Given the description of an element on the screen output the (x, y) to click on. 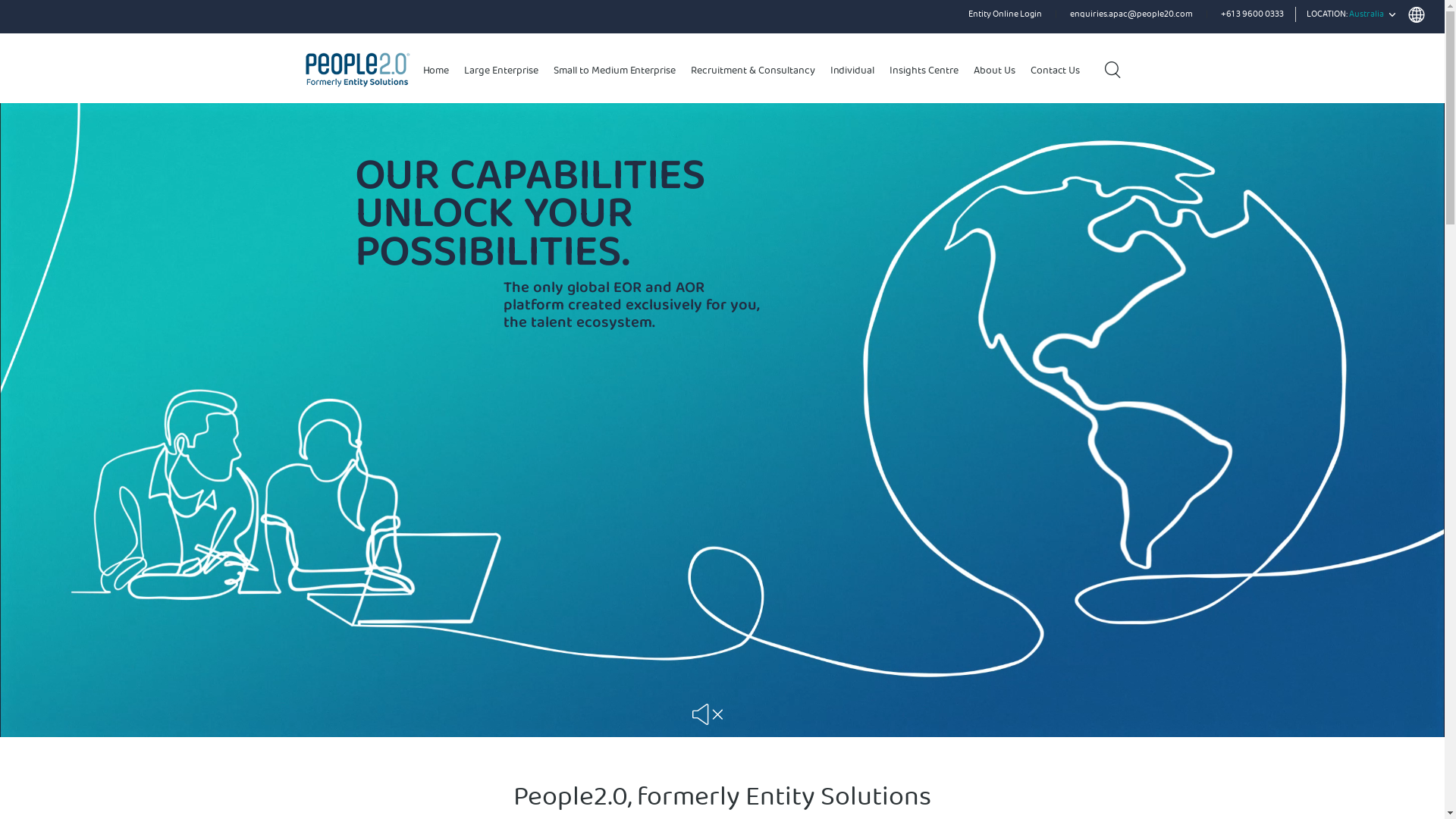
Search Element type: text (1111, 69)
About Us Element type: text (994, 71)
Entity Online Login Element type: text (1005, 15)
Insights Centre Element type: text (923, 71)
Small to Medium Enterprise Element type: text (614, 71)
Toogle Mute Element type: text (706, 714)
LOCATION: Australia Element type: text (1365, 15)
Entity Solutions Element type: hover (339, 68)
Contact Us Element type: text (1055, 71)
Home Element type: text (436, 71)
Large Enterprise Element type: text (501, 71)
Individual Element type: text (852, 71)
+61 3 9600 0333 Element type: text (1252, 15)
Recruitment & Consultancy Element type: text (752, 71)
enquiries.apac@people20.com Element type: text (1131, 15)
